Given the description of an element on the screen output the (x, y) to click on. 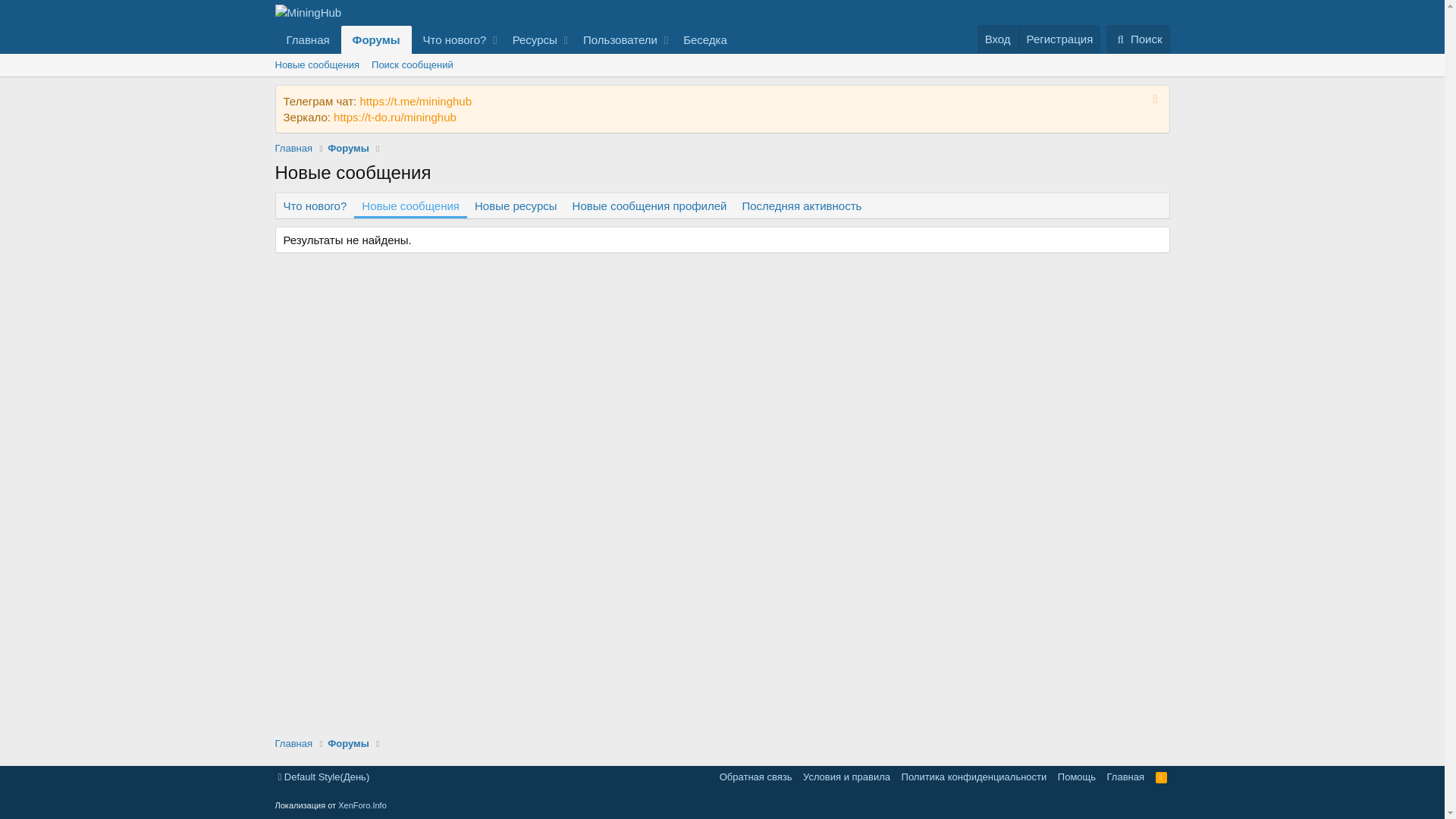
https://t-do.ru/mininghub Element type: text (394, 116)
RSS Element type: text (1161, 776)
XenForo.Info Element type: text (362, 804)
https://t.me/mininghub Element type: text (415, 100)
